Given the description of an element on the screen output the (x, y) to click on. 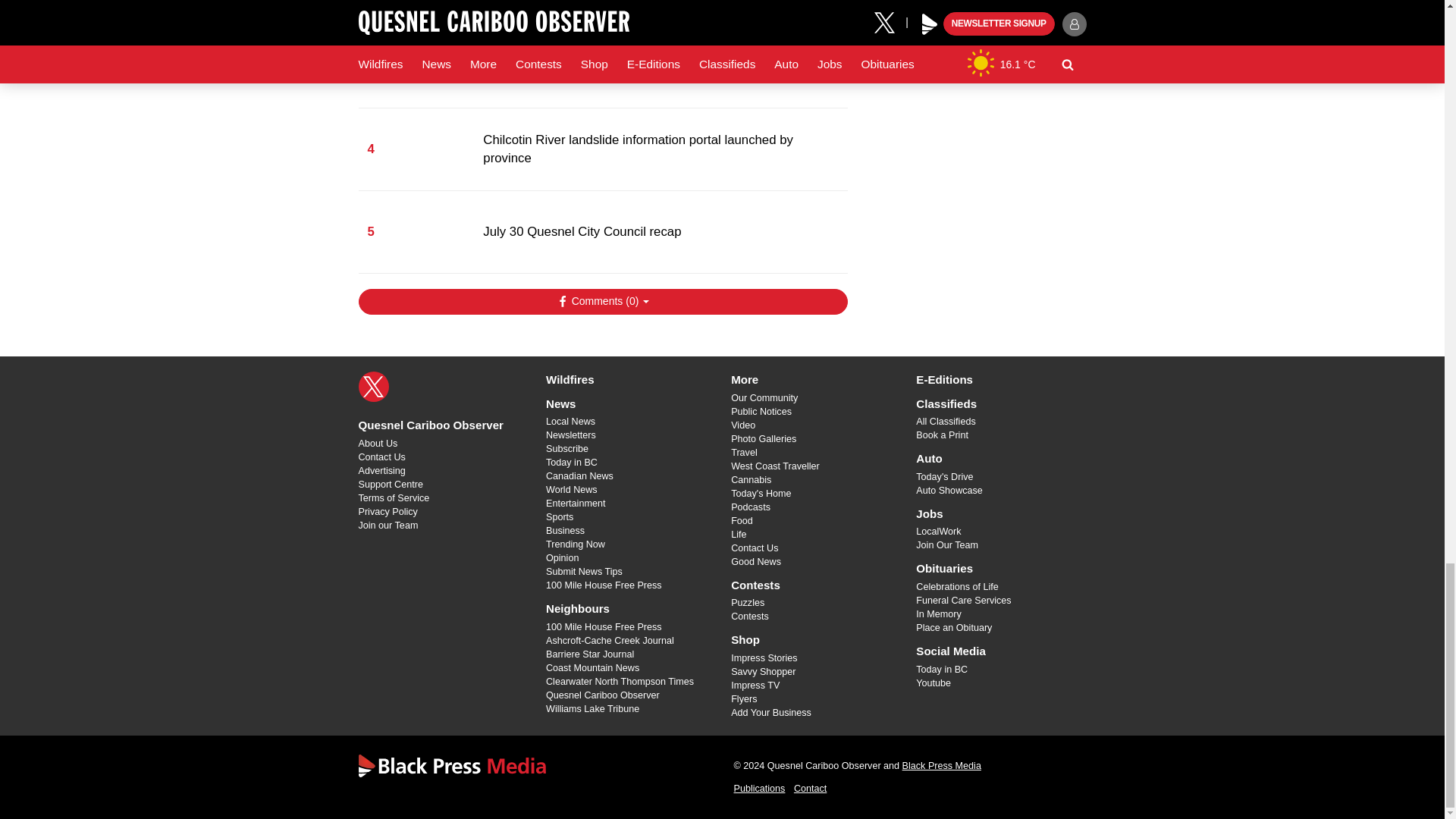
X (373, 386)
Show Comments (602, 301)
